Given the description of an element on the screen output the (x, y) to click on. 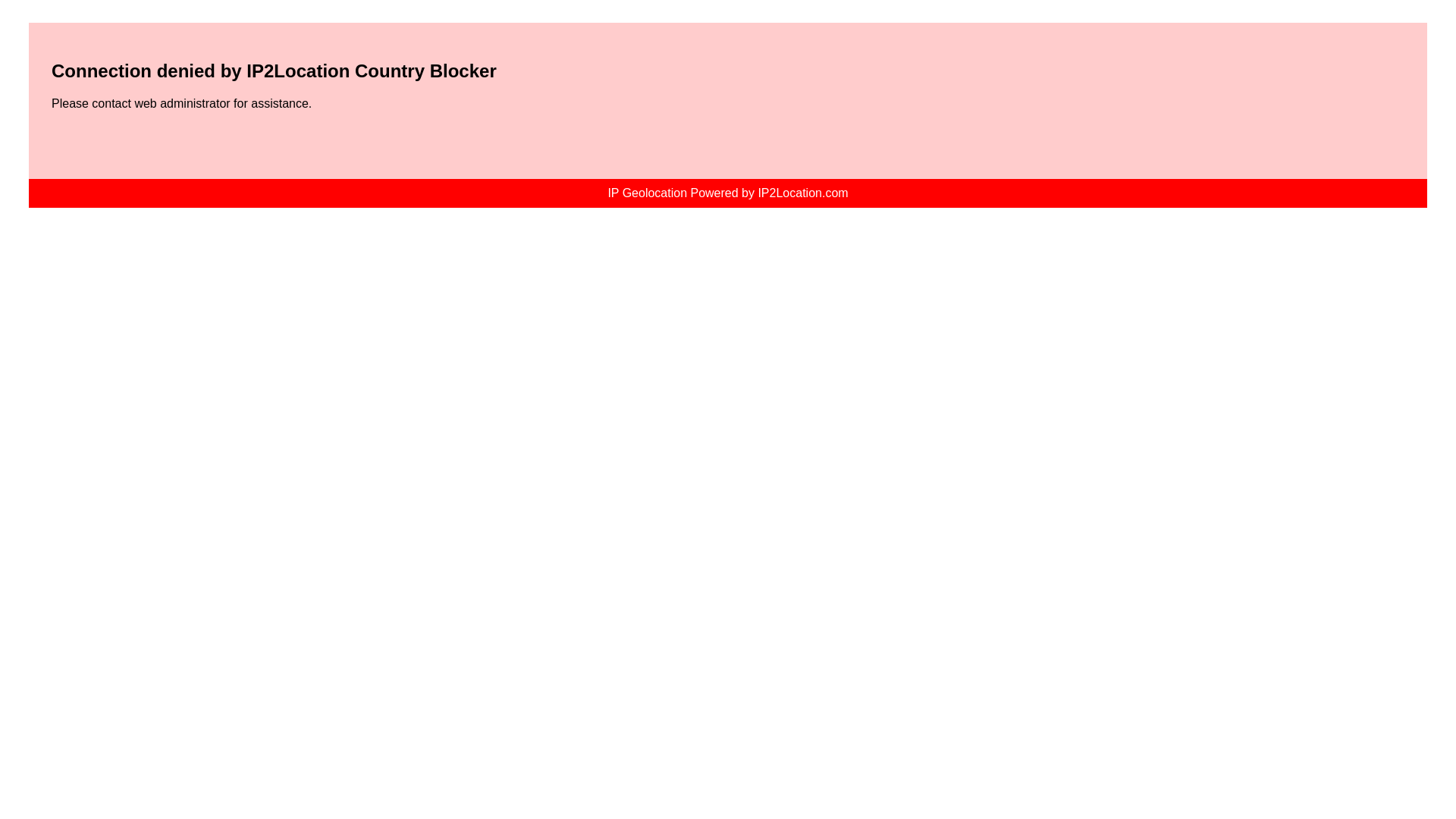
IP Geolocation Powered by IP2Location.com Element type: text (727, 192)
